Given the description of an element on the screen output the (x, y) to click on. 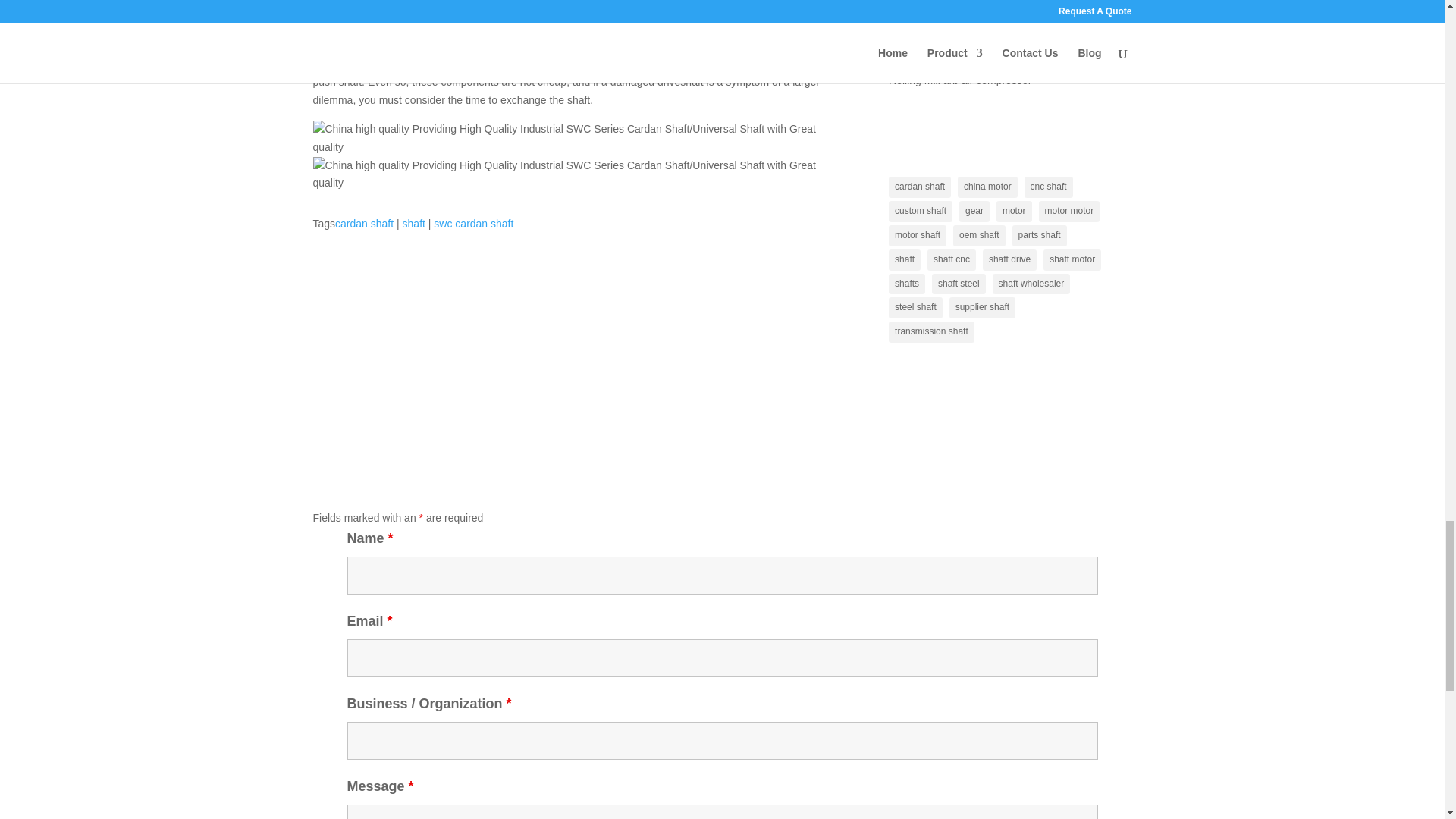
cardan shaft (363, 223)
swc cardan shaft (473, 223)
shaft (414, 223)
